Given the description of an element on the screen output the (x, y) to click on. 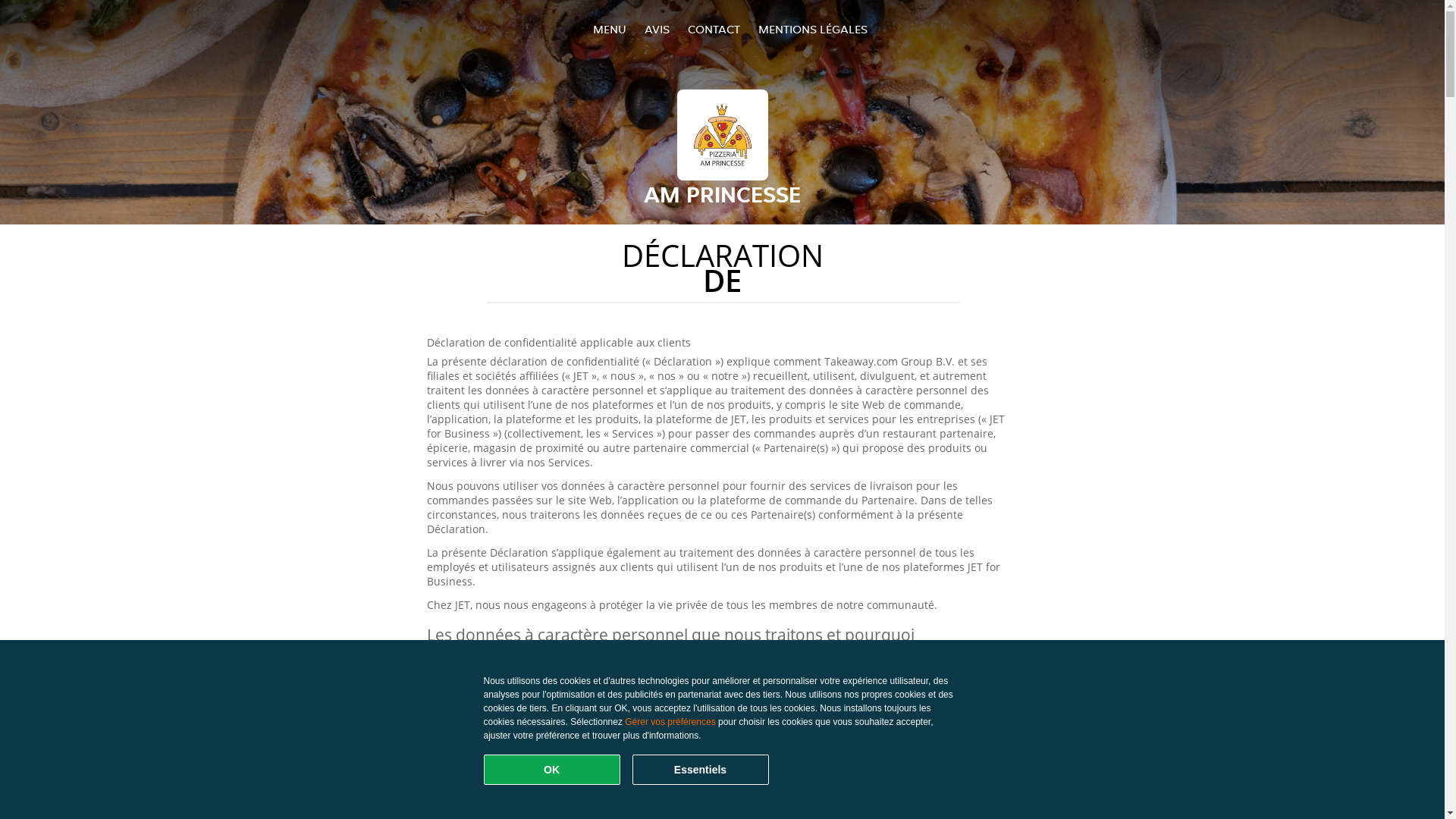
MENU Element type: text (609, 29)
AVIS Element type: text (656, 29)
CONTACT Element type: text (713, 29)
Essentiels Element type: text (700, 769)
OK Element type: text (551, 769)
